Given the description of an element on the screen output the (x, y) to click on. 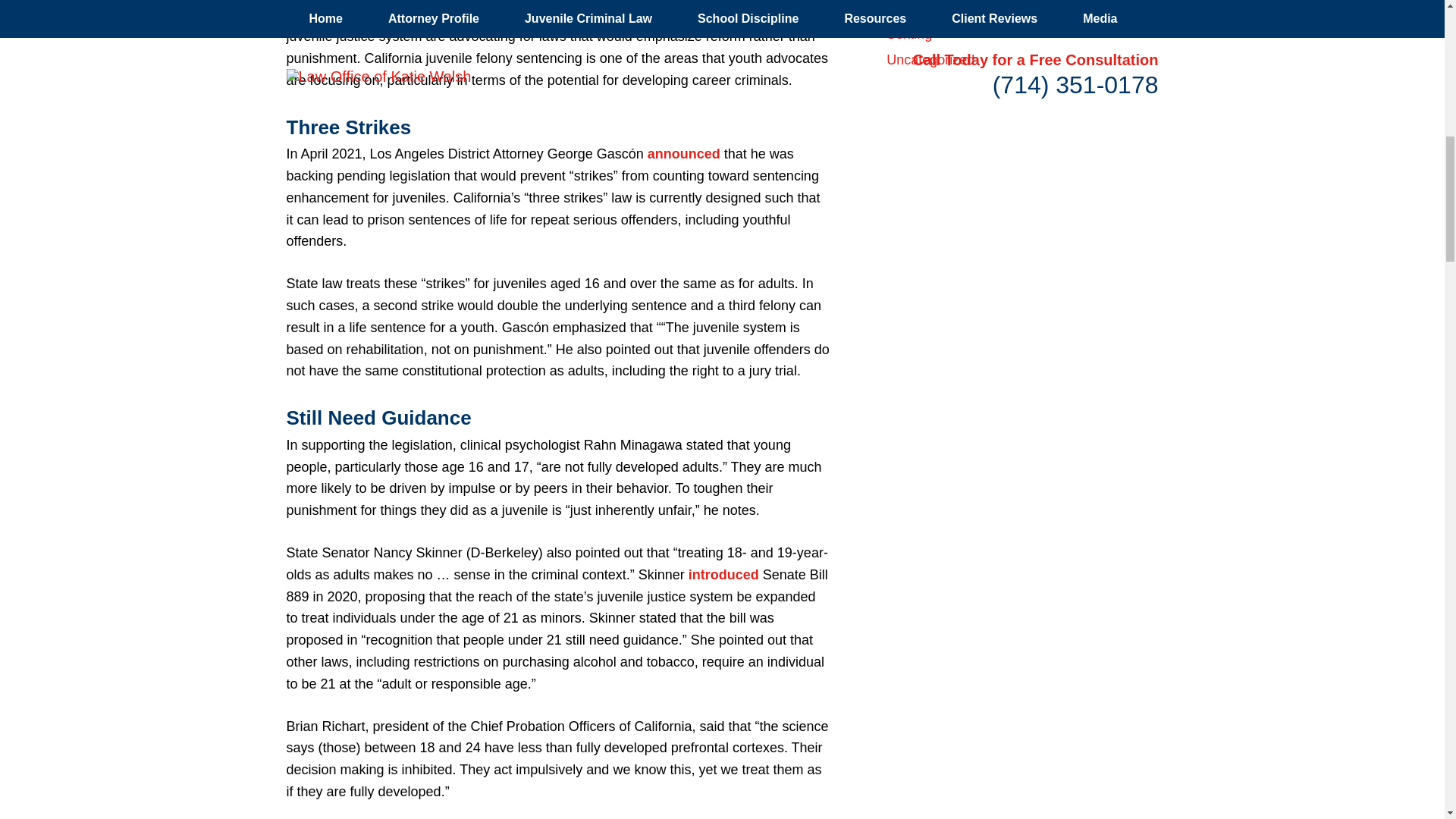
announced (683, 153)
Sexting (908, 33)
introduced (723, 574)
Juvenile Theft (928, 7)
Uncategorized (930, 59)
